Given the description of an element on the screen output the (x, y) to click on. 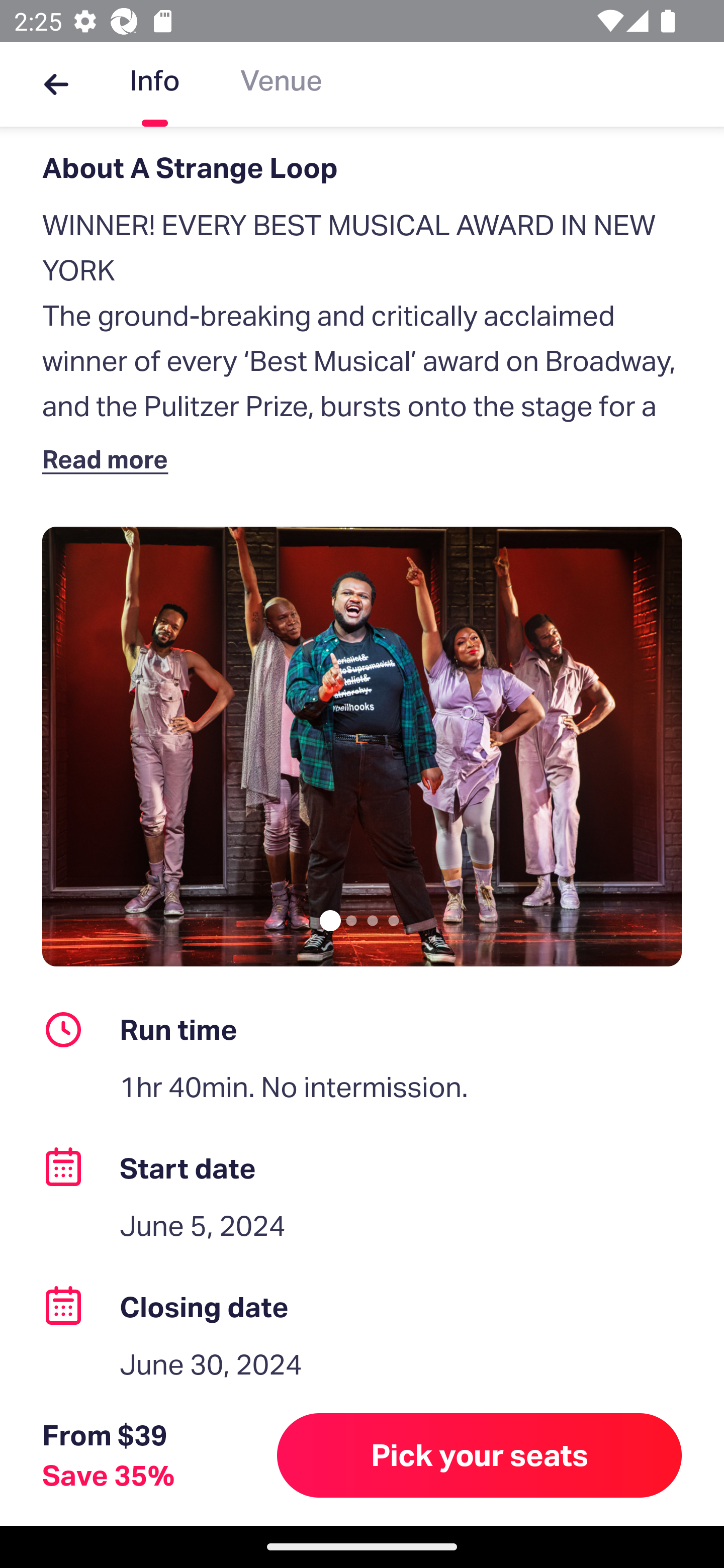
Venue (280, 84)
About A Strange Loop (361, 168)
Read more (109, 458)
Pick your seats (479, 1454)
